Given the description of an element on the screen output the (x, y) to click on. 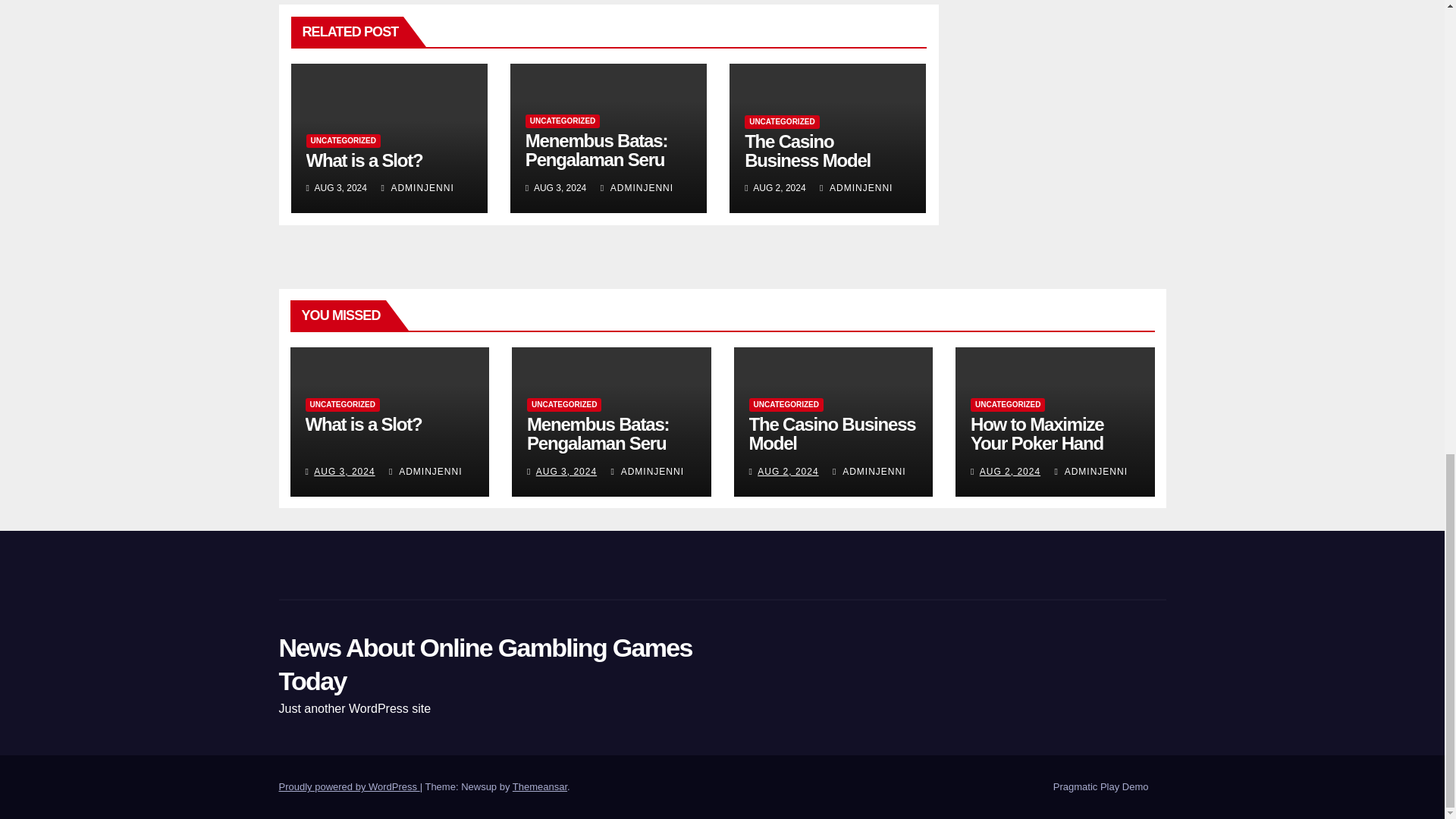
Permalink to: How to Maximize Your Poker Hand Strength (1037, 443)
ADMINJENNI (416, 187)
ADMINJENNI (855, 187)
UNCATEGORIZED (781, 121)
UNCATEGORIZED (562, 120)
Permalink to: The Casino Business Model (832, 433)
What is a Slot? (364, 159)
The Casino Business Model (807, 150)
